Given the description of an element on the screen output the (x, y) to click on. 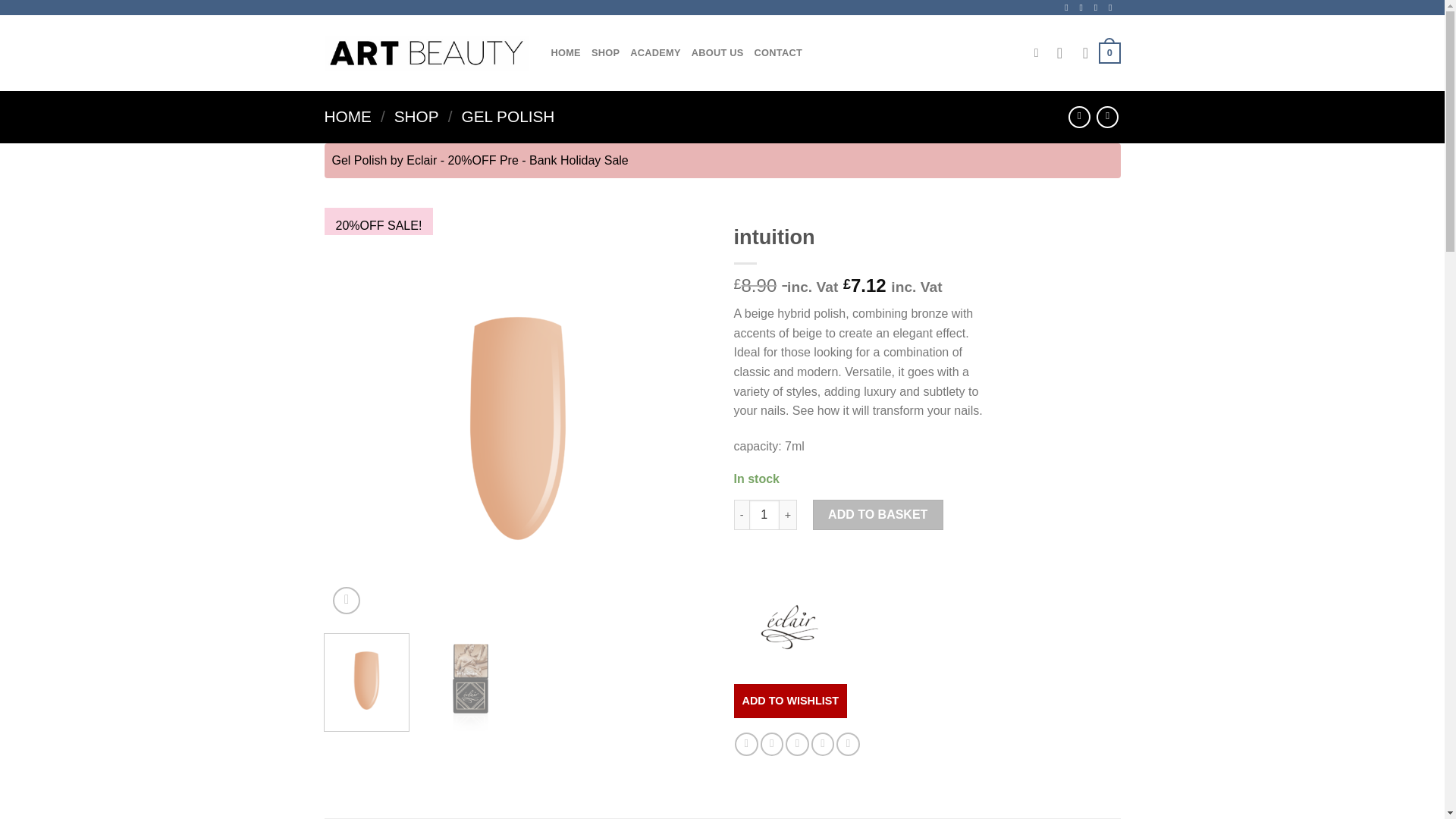
Qty (763, 514)
Zoom (346, 600)
SHOP (416, 116)
Eclair (790, 626)
ABOUT US (717, 52)
ADD TO WISHLIST (790, 700)
SHOP (605, 52)
HOME (347, 116)
1 (763, 514)
